Given the description of an element on the screen output the (x, y) to click on. 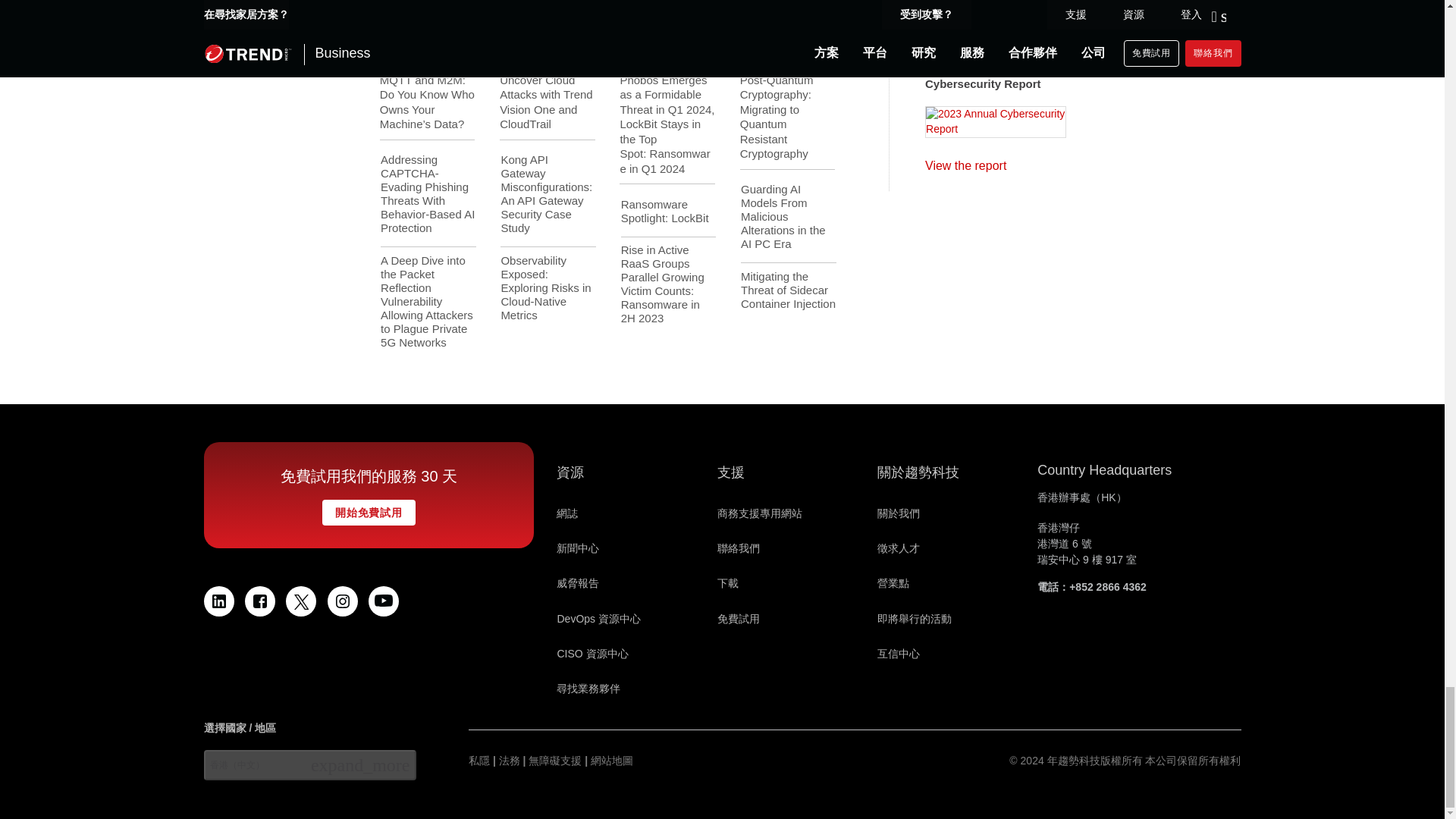
Accessibility (554, 760)
privacy (478, 760)
Legal (509, 760)
Site map (612, 760)
